Given the description of an element on the screen output the (x, y) to click on. 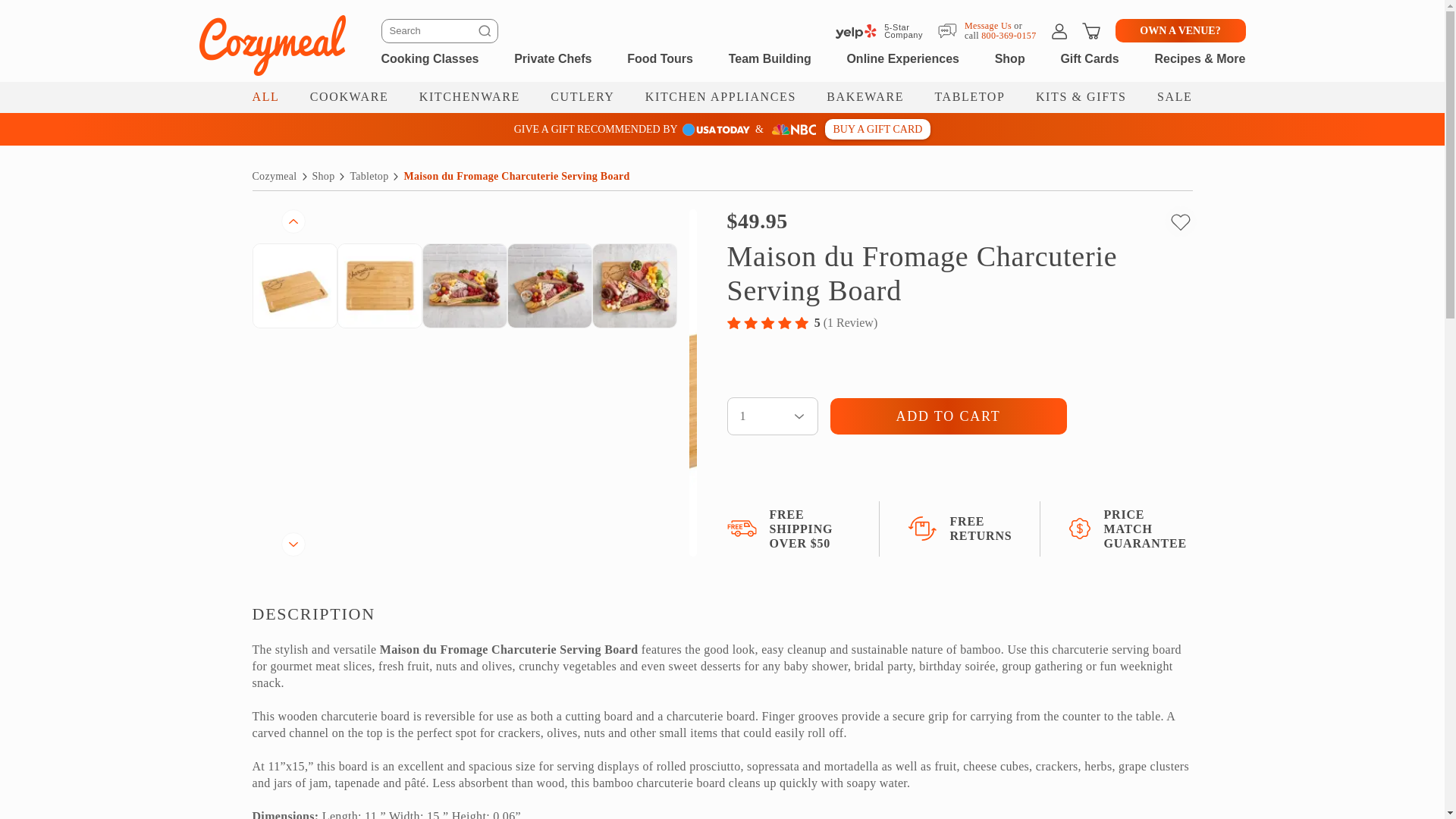
Message Us (987, 24)
Cooking Classes (429, 58)
800-369-0157 (1008, 35)
